Given the description of an element on the screen output the (x, y) to click on. 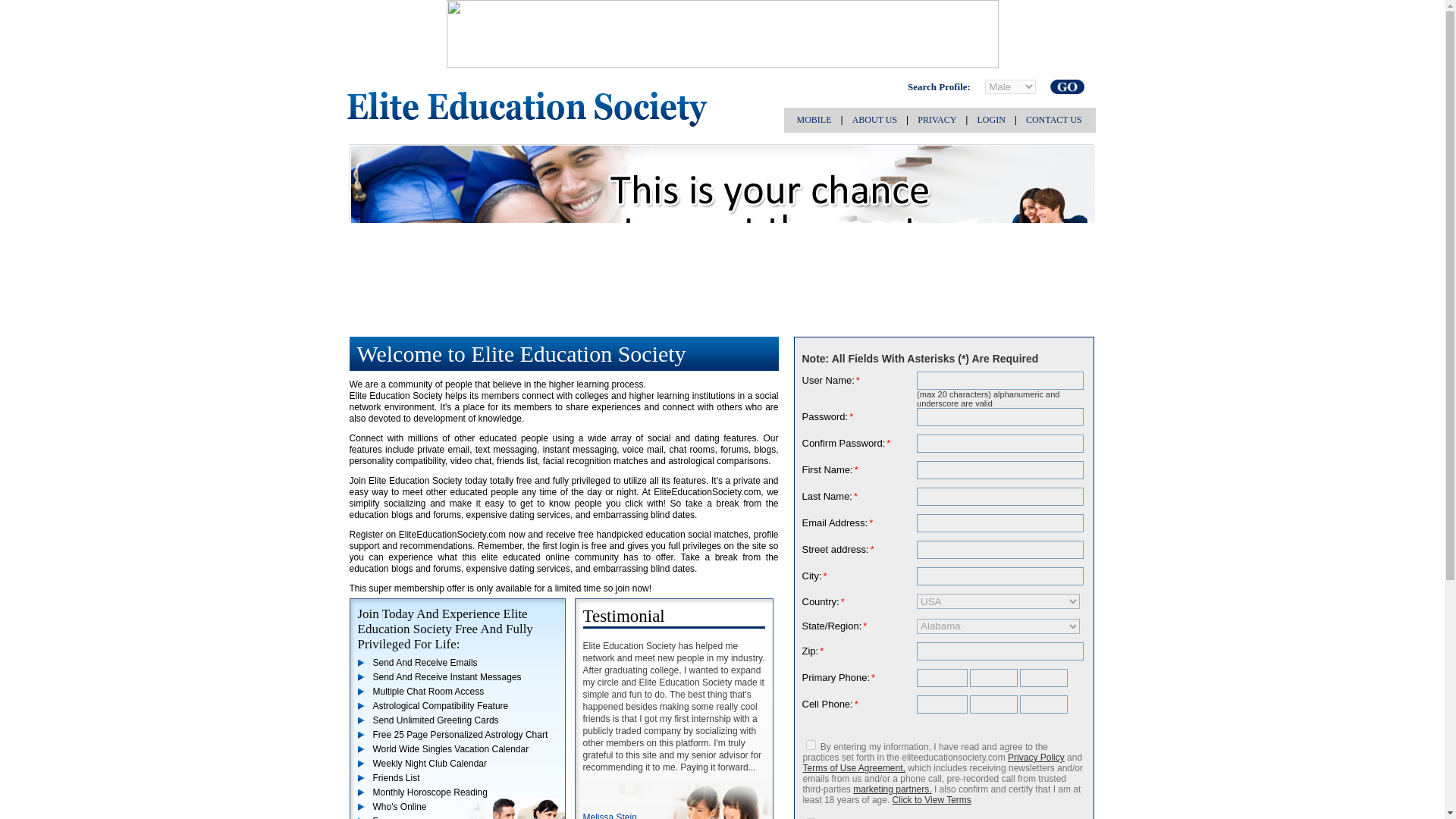
PRIVACY (936, 119)
Privacy Policy (1035, 757)
LOGIN (990, 119)
ABOUT US (873, 119)
marketing partners. (892, 788)
MOBILE (813, 119)
Terms of Use Agreement, (853, 767)
Click to View Terms (931, 799)
ON (810, 745)
CONTACT US (1053, 119)
